Given the description of an element on the screen output the (x, y) to click on. 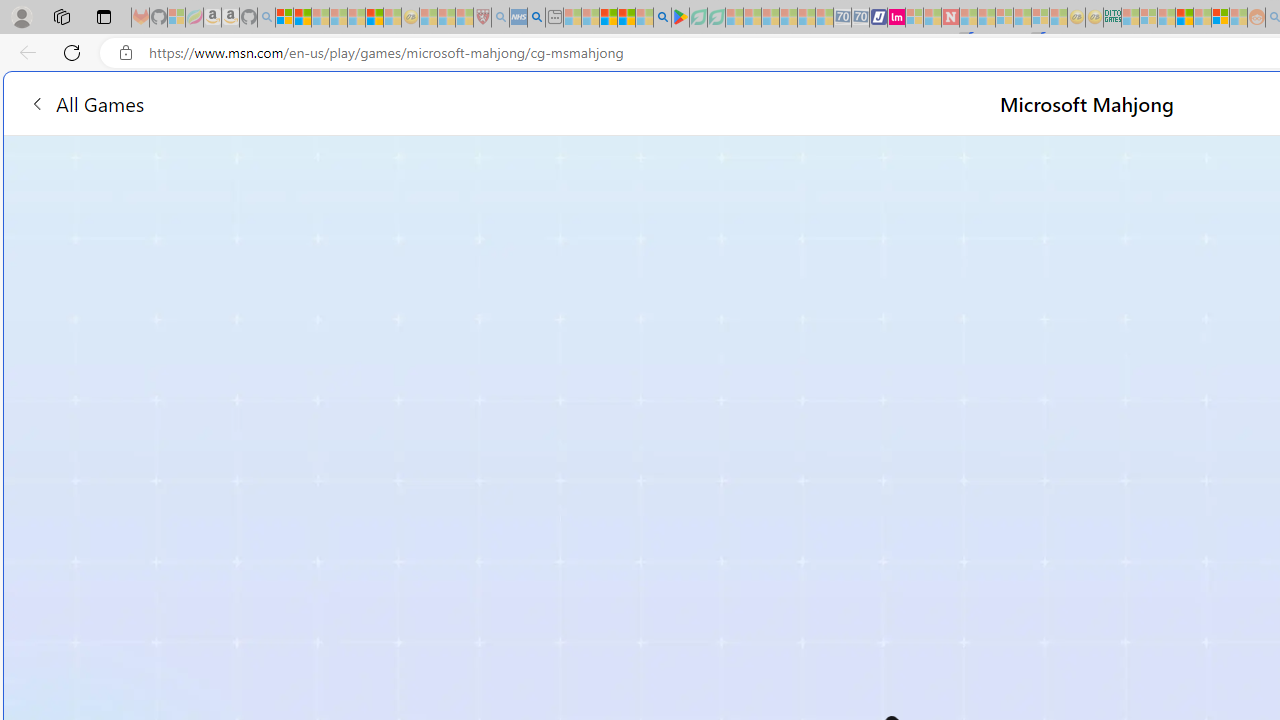
utah sues federal government - Search (536, 17)
All Games (86, 102)
